Given the description of an element on the screen output the (x, y) to click on. 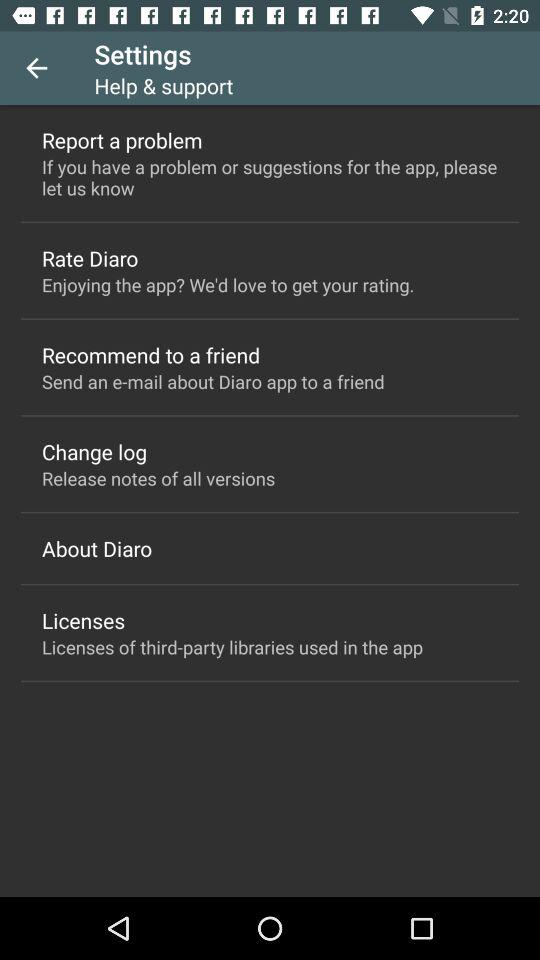
turn off the item below the change log icon (158, 478)
